Given the description of an element on the screen output the (x, y) to click on. 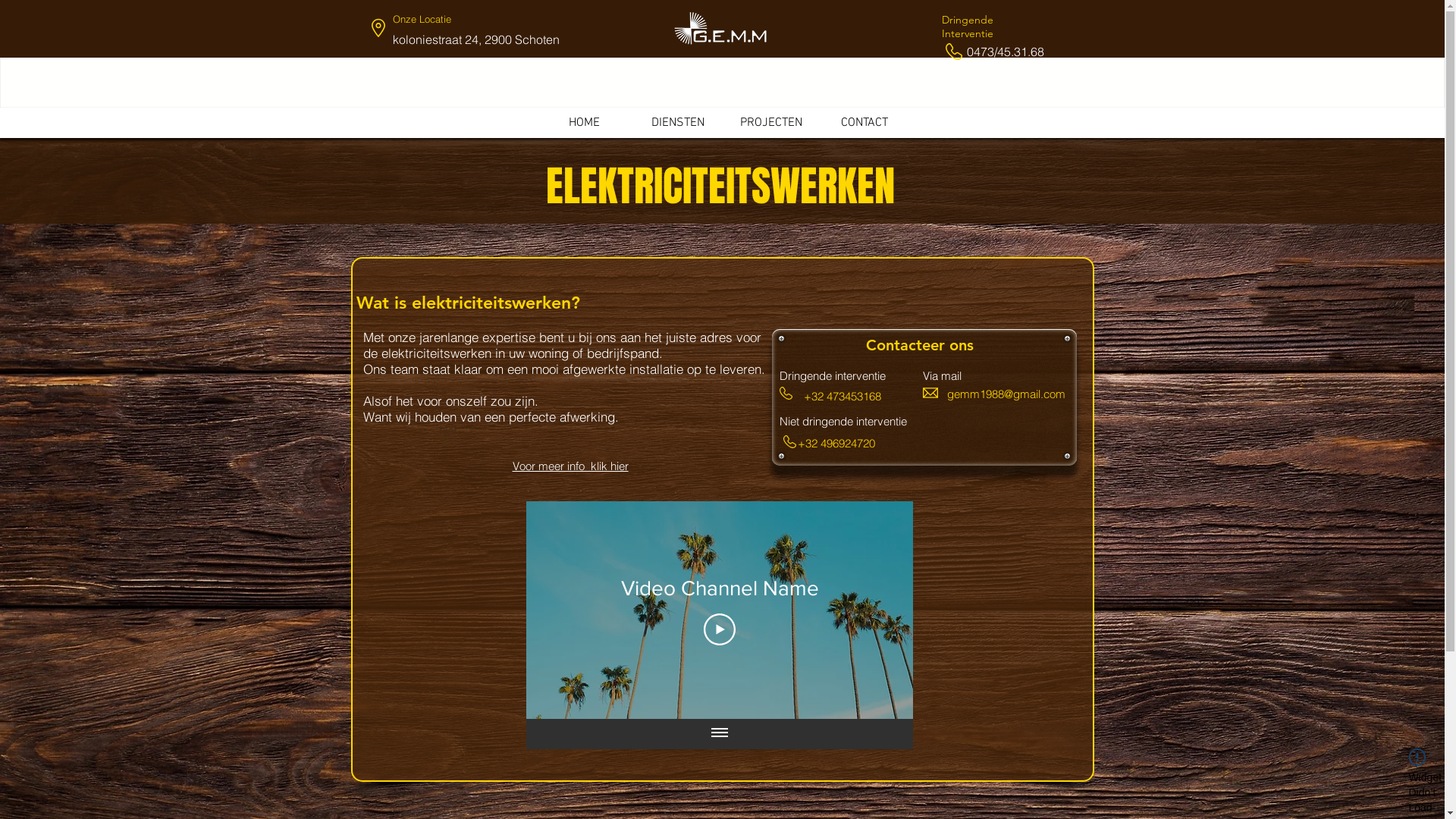
PROJECTEN Element type: text (770, 122)
hier Element type: text (447, 430)
+32 473453168 Element type: text (842, 396)
gemm1988@gmail.com Element type: text (1005, 393)
+32 496924720 Element type: text (836, 443)
Voor meer info  klik hier Element type: text (570, 465)
HOME Element type: text (584, 122)
CONTACT Element type: text (863, 122)
